Given the description of an element on the screen output the (x, y) to click on. 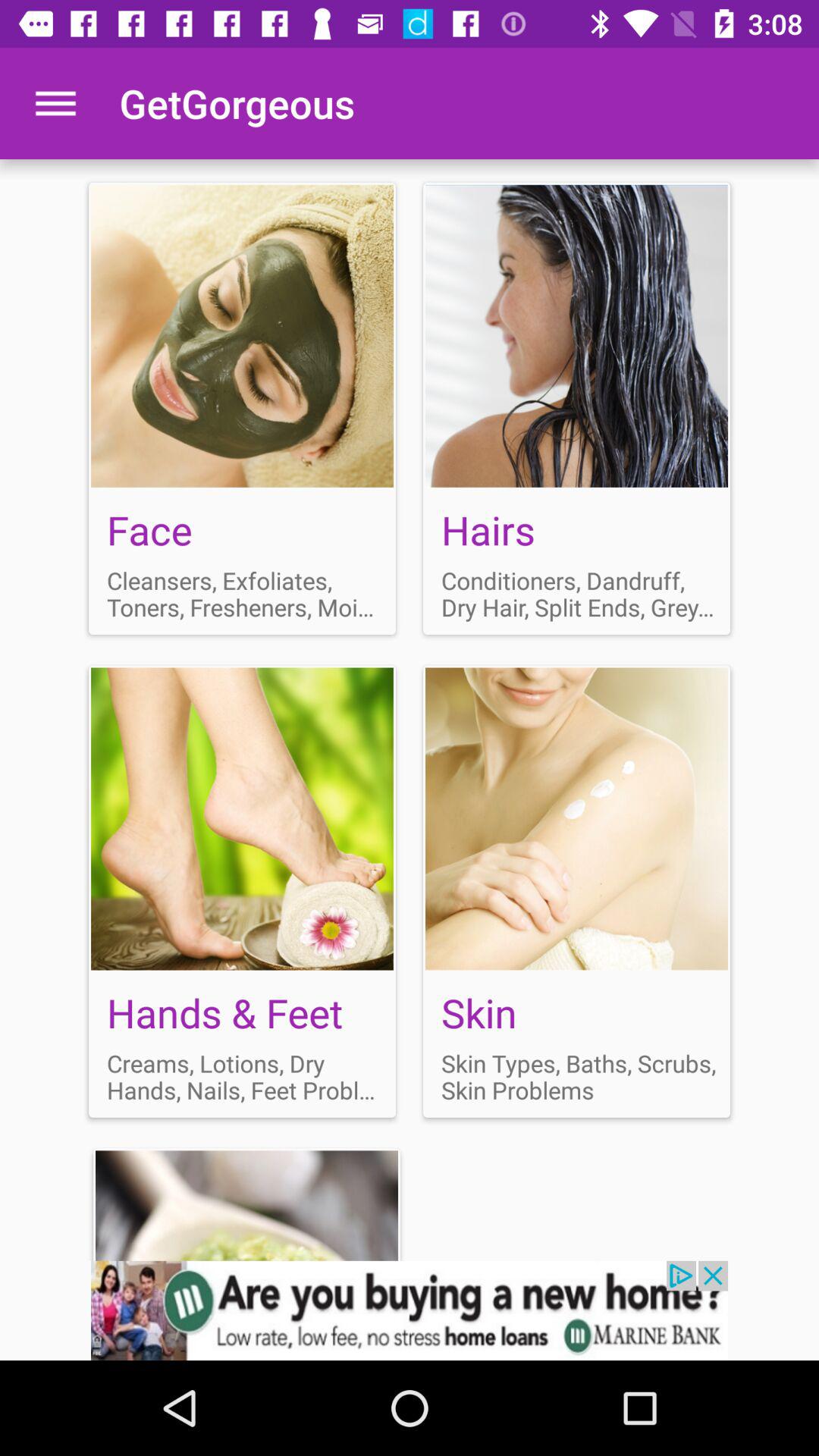
know about the advertisement (409, 1310)
